Given the description of an element on the screen output the (x, y) to click on. 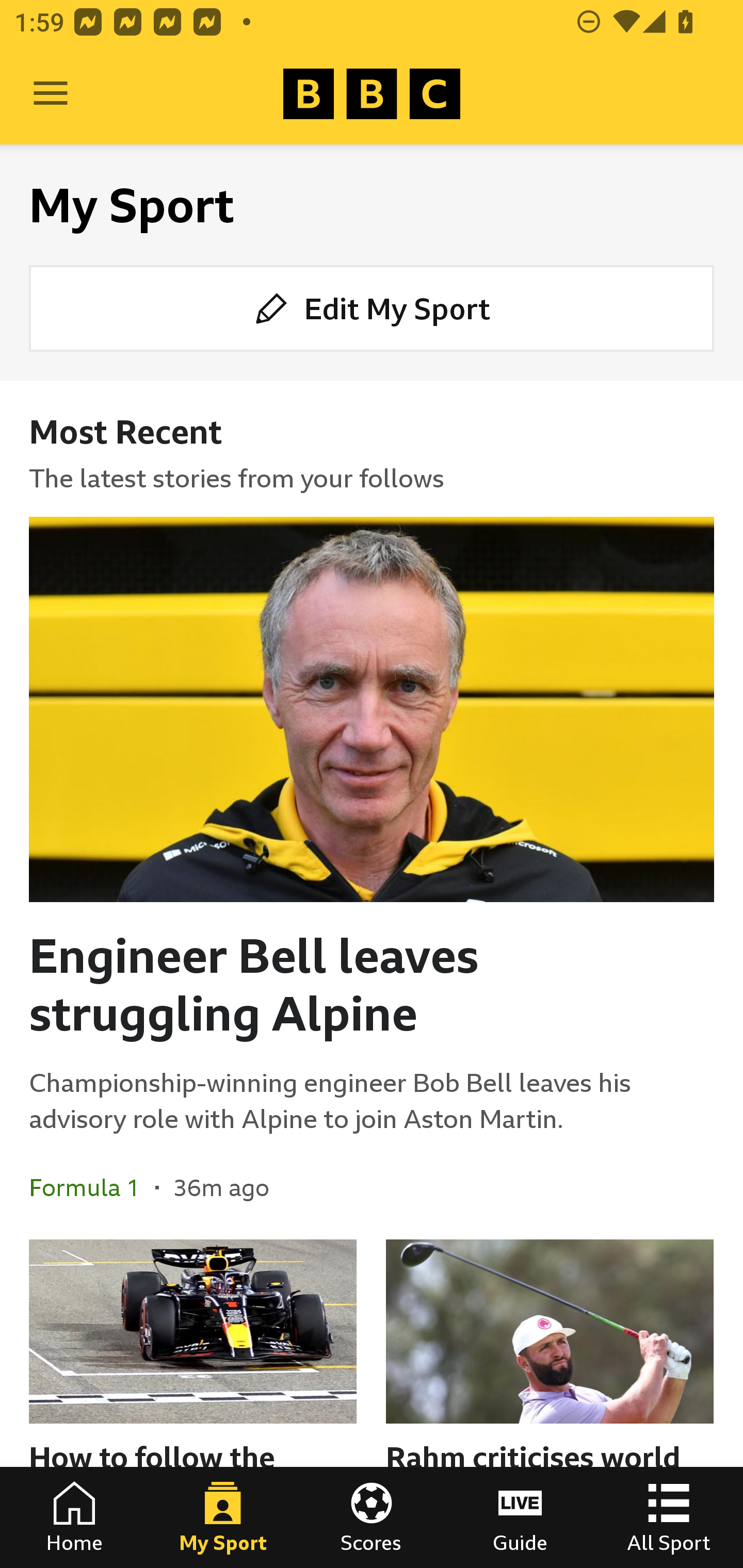
Open Menu (50, 93)
Edit My Sport (371, 307)
Home (74, 1517)
Scores (371, 1517)
Guide (519, 1517)
All Sport (668, 1517)
